Given the description of an element on the screen output the (x, y) to click on. 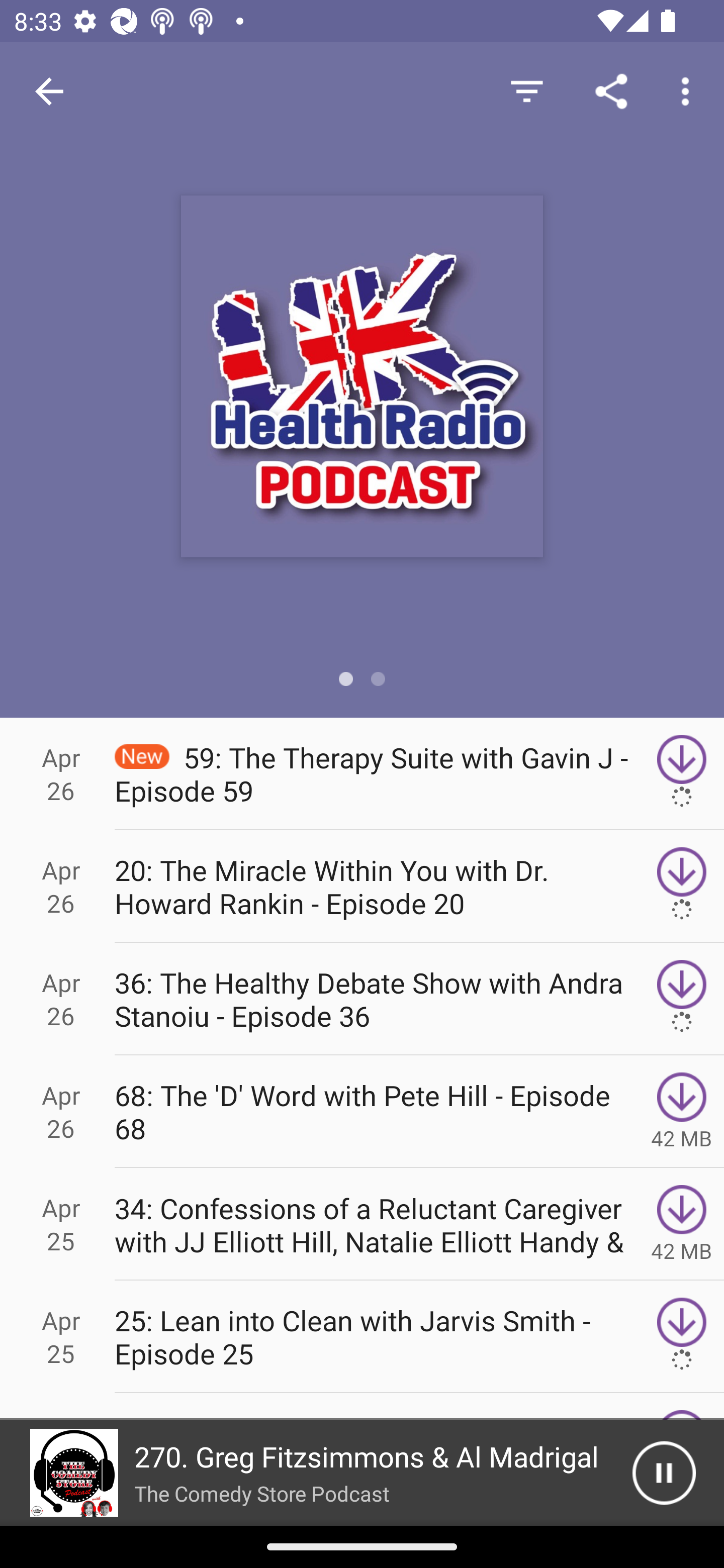
Navigate up (49, 91)
Hide Episodes (526, 90)
Share Link (611, 90)
More options (688, 90)
Download  (681, 773)
Download  (681, 885)
Download  (681, 998)
Download  (681, 1111)
Download 42 MB (681, 1224)
Download  (681, 1336)
Pause (663, 1472)
